Given the description of an element on the screen output the (x, y) to click on. 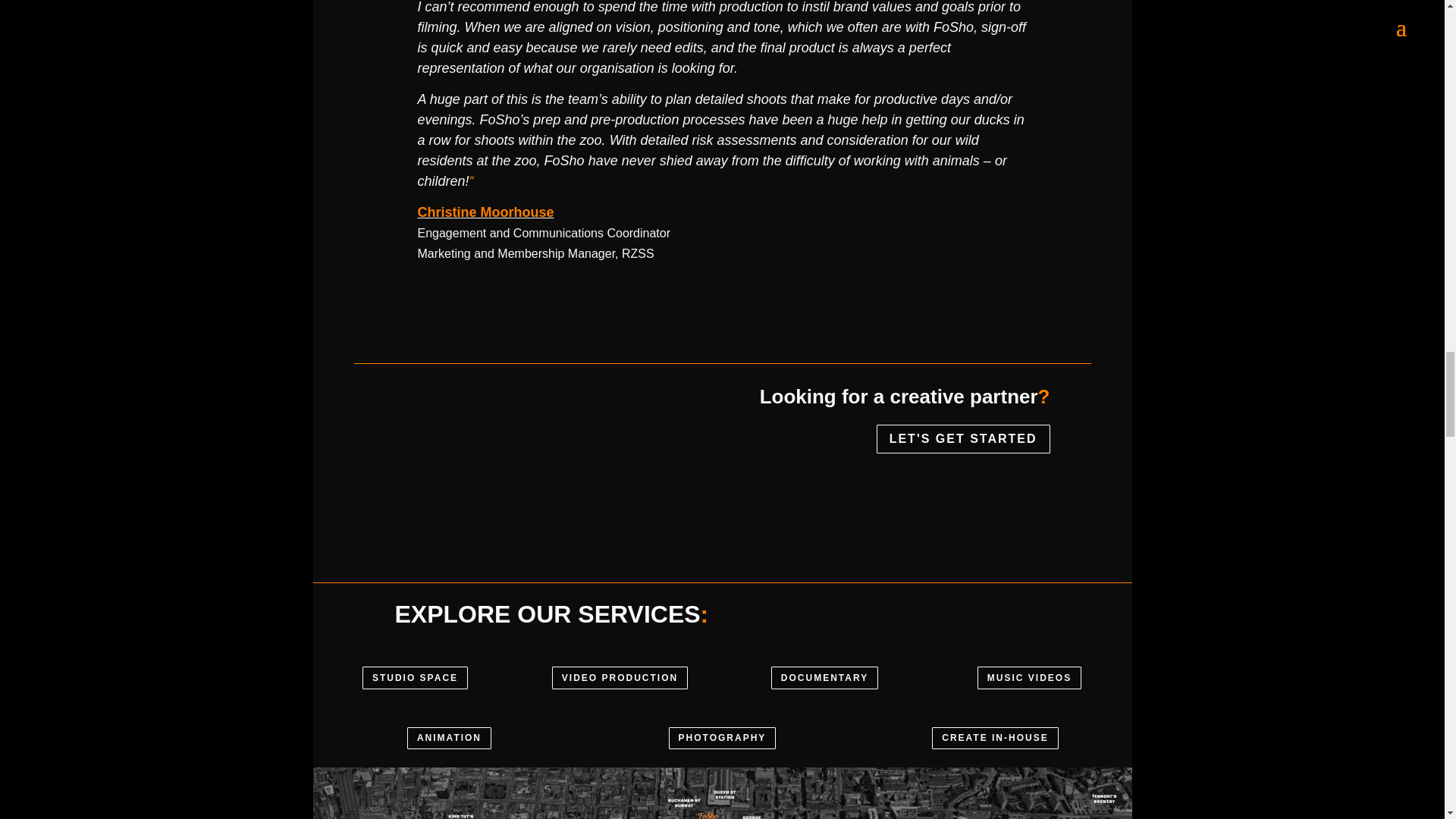
VIDEO PRODUCTION (619, 677)
ANIMATION (449, 738)
Christine Moorhouse (484, 212)
MUSIC VIDEOS (1028, 677)
STUDIO SPACE (414, 677)
CREATE IN-HOUSE (994, 738)
FoSho STUDIOS Glasgow Map (722, 793)
DOCUMENTARY (824, 677)
PHOTOGRAPHY (722, 738)
LET'S GET STARTED (962, 439)
